Given the description of an element on the screen output the (x, y) to click on. 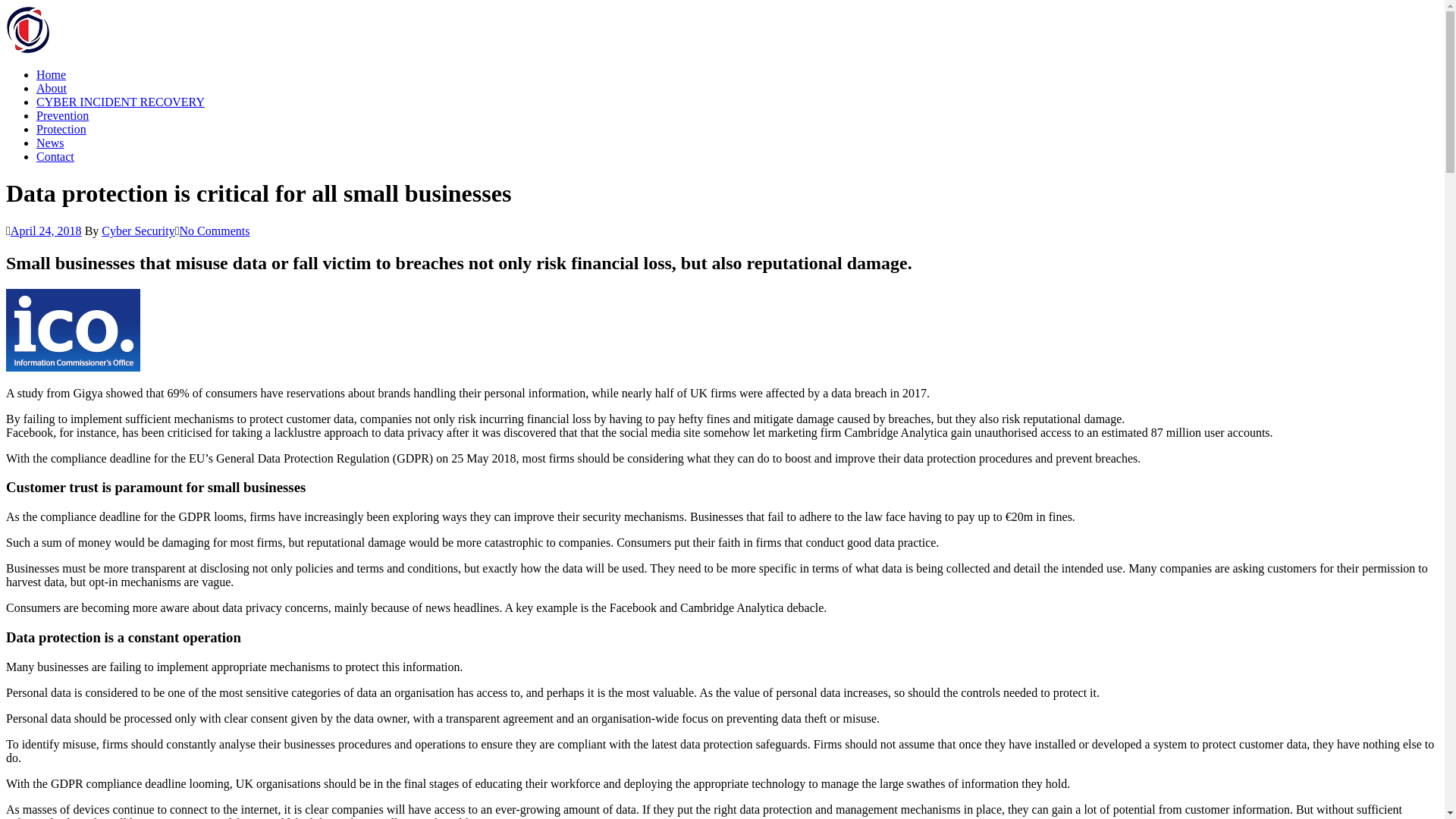
Protection (60, 128)
News (50, 142)
About (51, 88)
CYBER INCIDENT RECOVERY (120, 101)
Contact (55, 155)
April 24, 2018 (45, 230)
Cyber Security (137, 230)
Prevention (62, 115)
No Comments (214, 230)
